Given the description of an element on the screen output the (x, y) to click on. 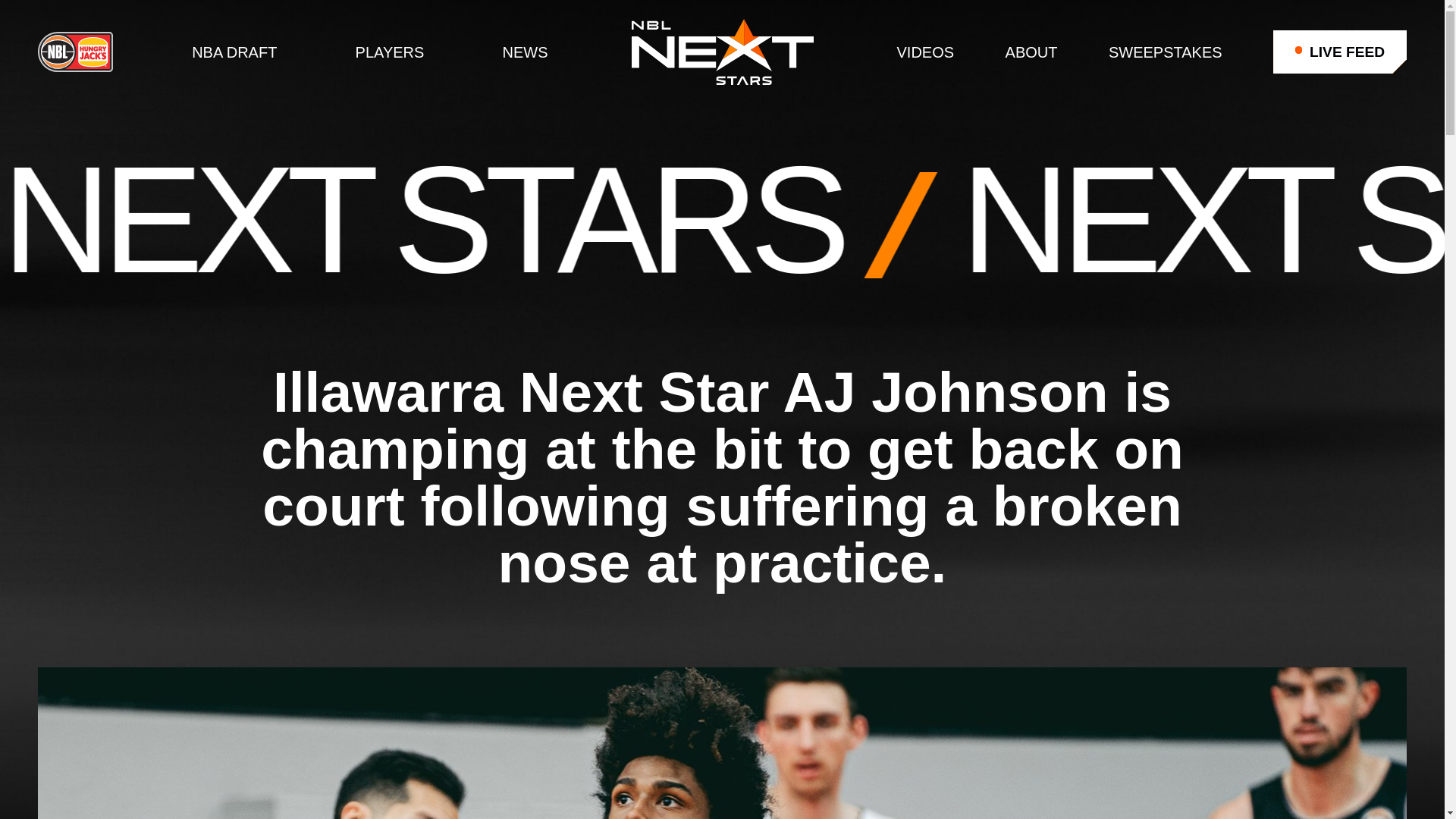
VIDEOS (924, 52)
NEWS (524, 52)
PLAYERS (390, 52)
SWEEPSTAKES (1165, 52)
ABOUT (1032, 52)
LIVE FEED (1339, 52)
NBA DRAFT (234, 52)
